Given the description of an element on the screen output the (x, y) to click on. 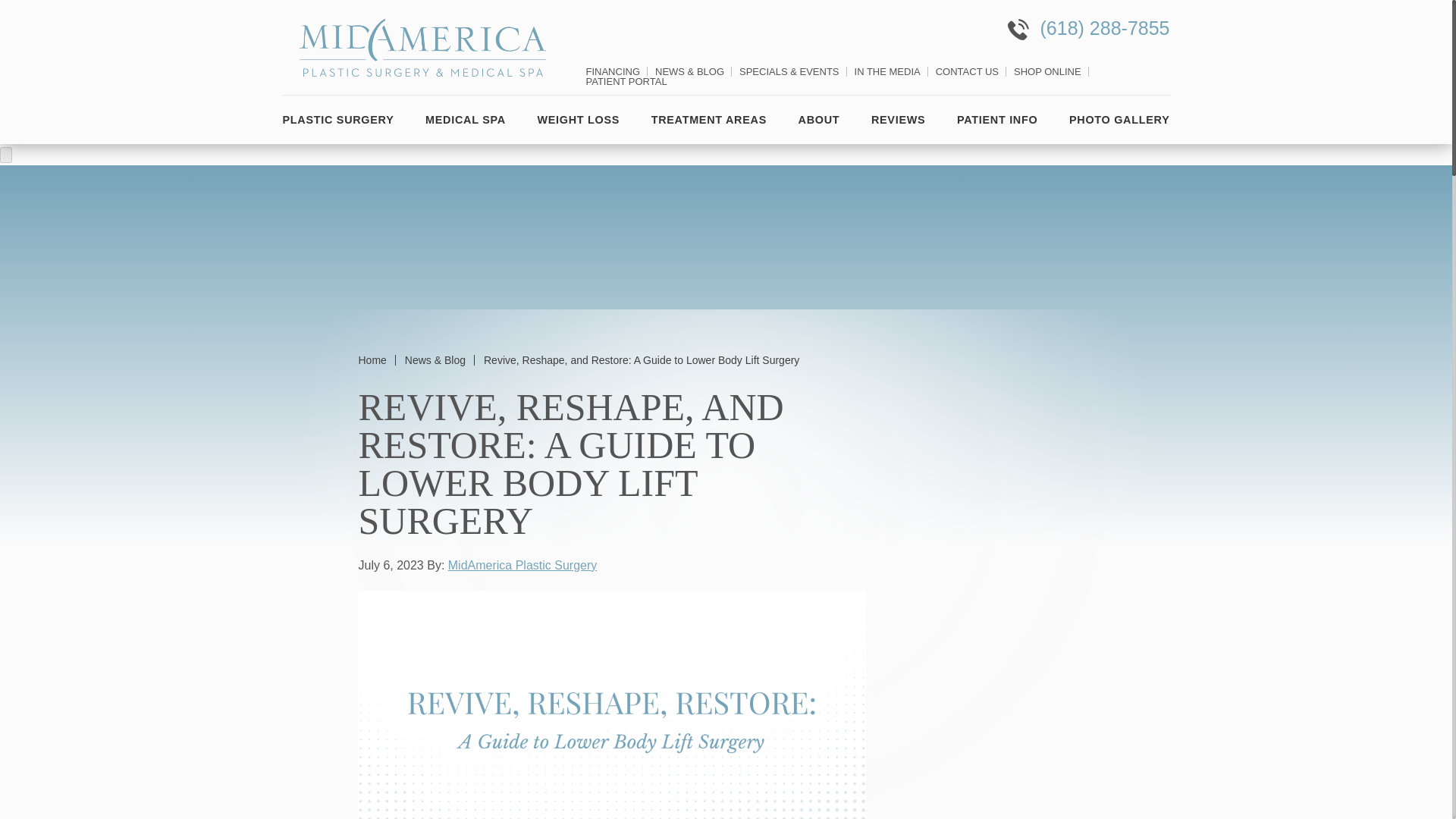
CONTACT US (967, 71)
FINANCING (612, 71)
SHOP ONLINE (1047, 71)
IN THE MEDIA (887, 71)
MEDICAL SPA (465, 119)
PLASTIC SURGERY (339, 119)
PATIENT PORTAL (625, 81)
View all posts by MidAmerica Plastic Surgery (522, 563)
